Given the description of an element on the screen output the (x, y) to click on. 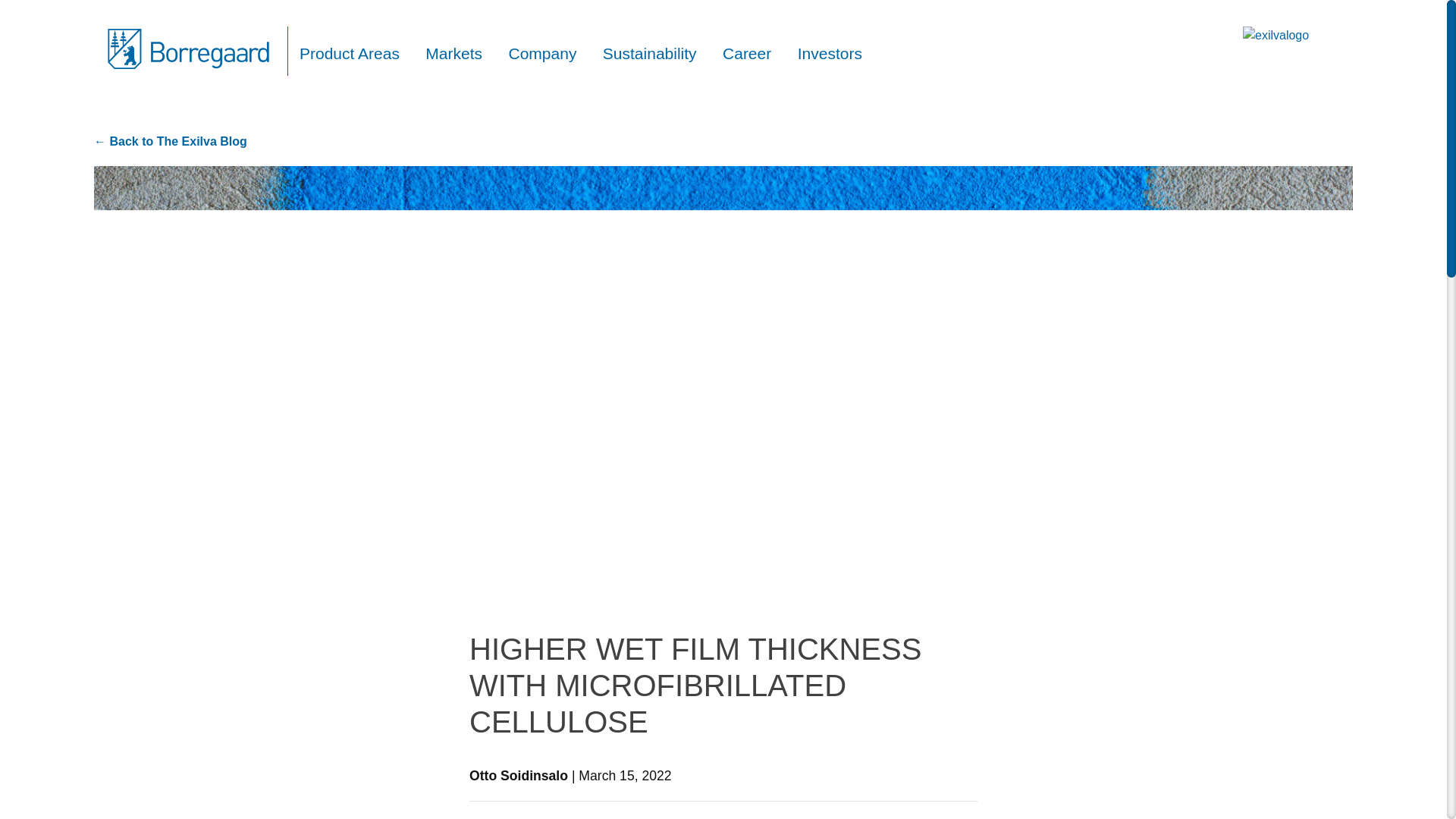
Product Areas (349, 53)
Company (542, 53)
Markets (453, 53)
